Given the description of an element on the screen output the (x, y) to click on. 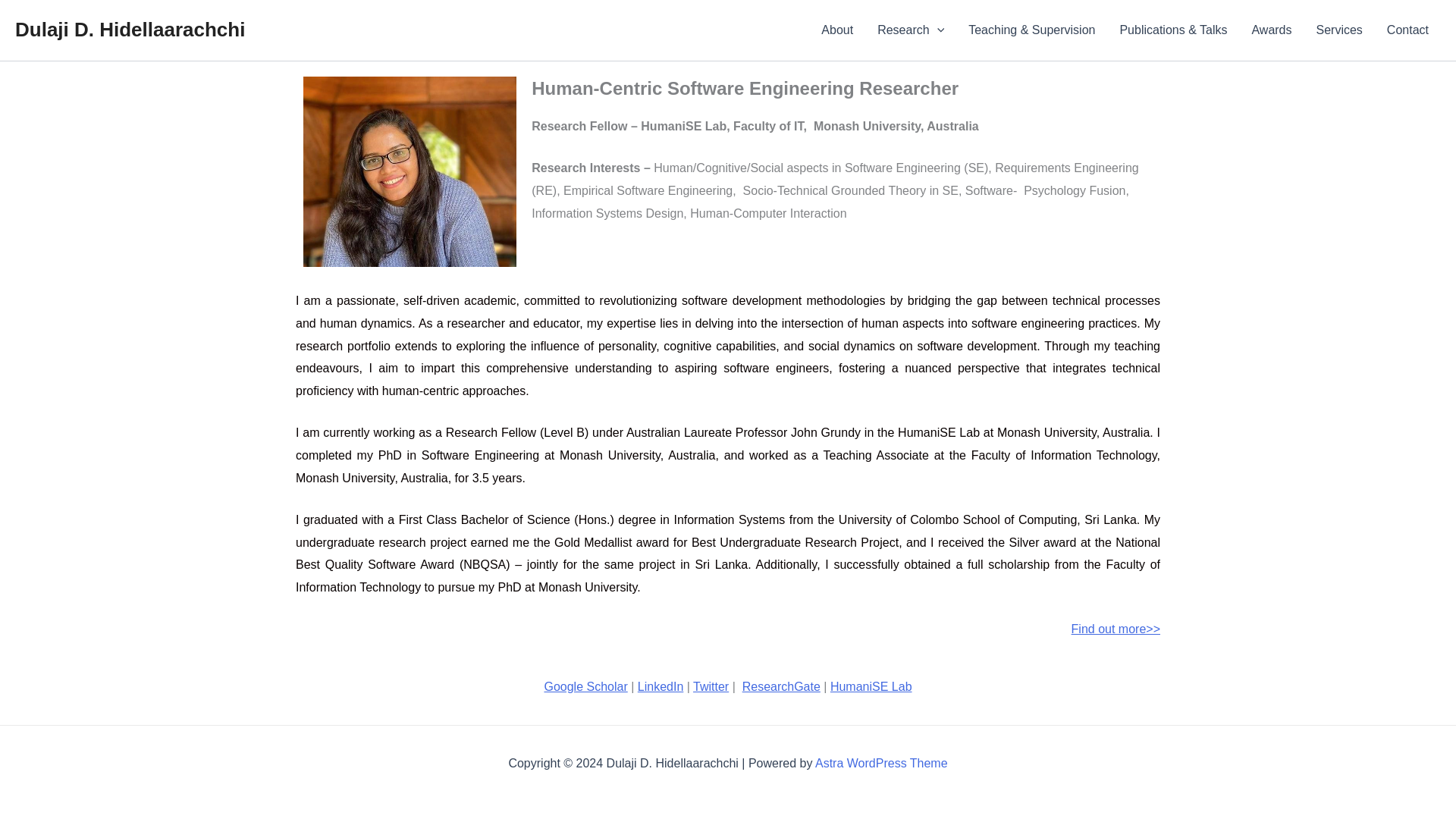
Twitter (711, 686)
ResearchGate (781, 686)
About (836, 30)
HumaniSE Lab (870, 686)
Dulaji D. Hidellaarachchi (129, 29)
Awards (1271, 30)
Services (1339, 30)
Google Scholar (585, 686)
LinkedIn (660, 686)
Contact (1407, 30)
Research (910, 30)
Astra WordPress Theme (881, 762)
